Given the description of an element on the screen output the (x, y) to click on. 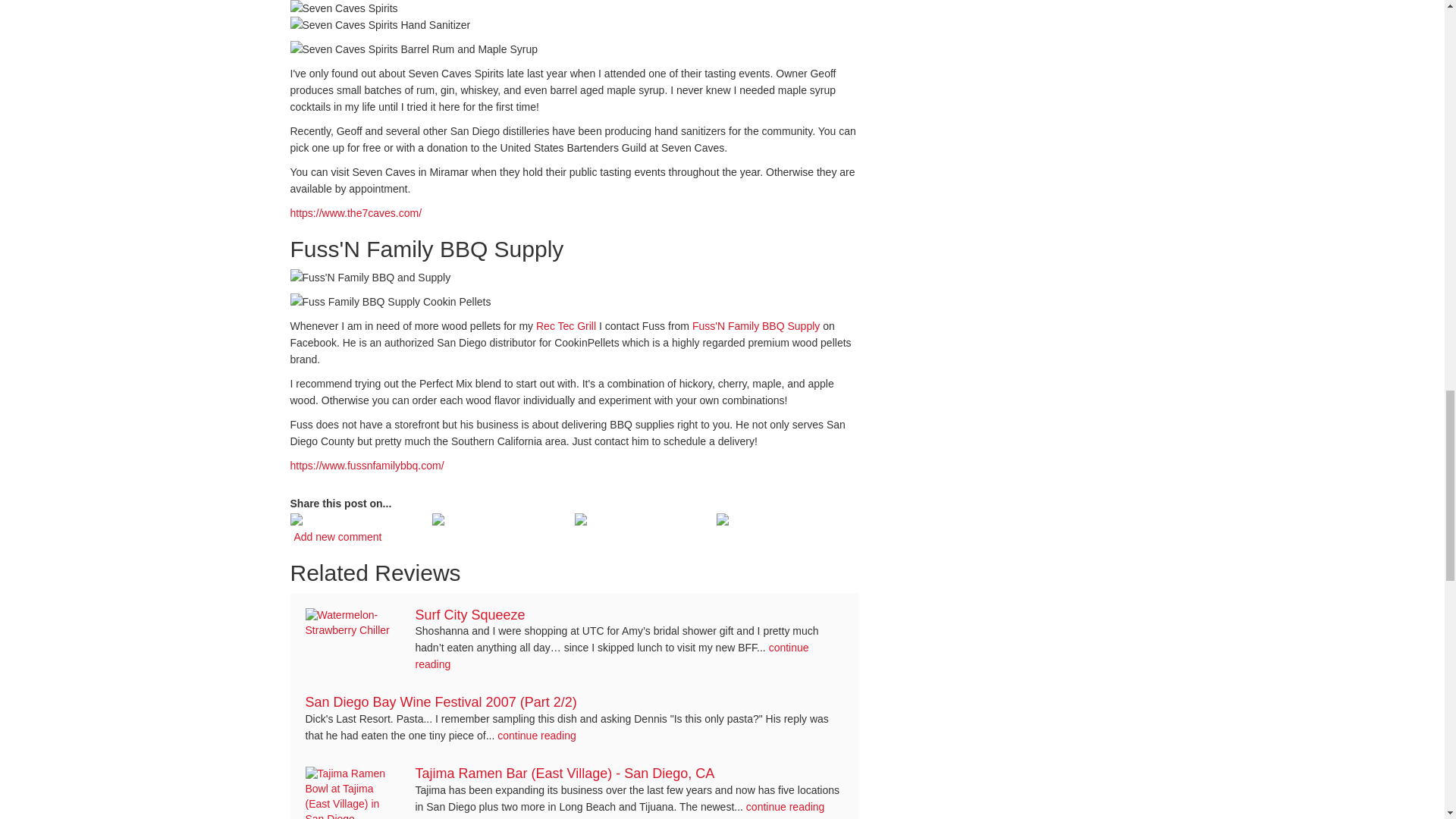
Add new comment (337, 536)
Rec Tec Grill (565, 326)
Fuss'N Family BBQ Supply (756, 326)
